Given the description of an element on the screen output the (x, y) to click on. 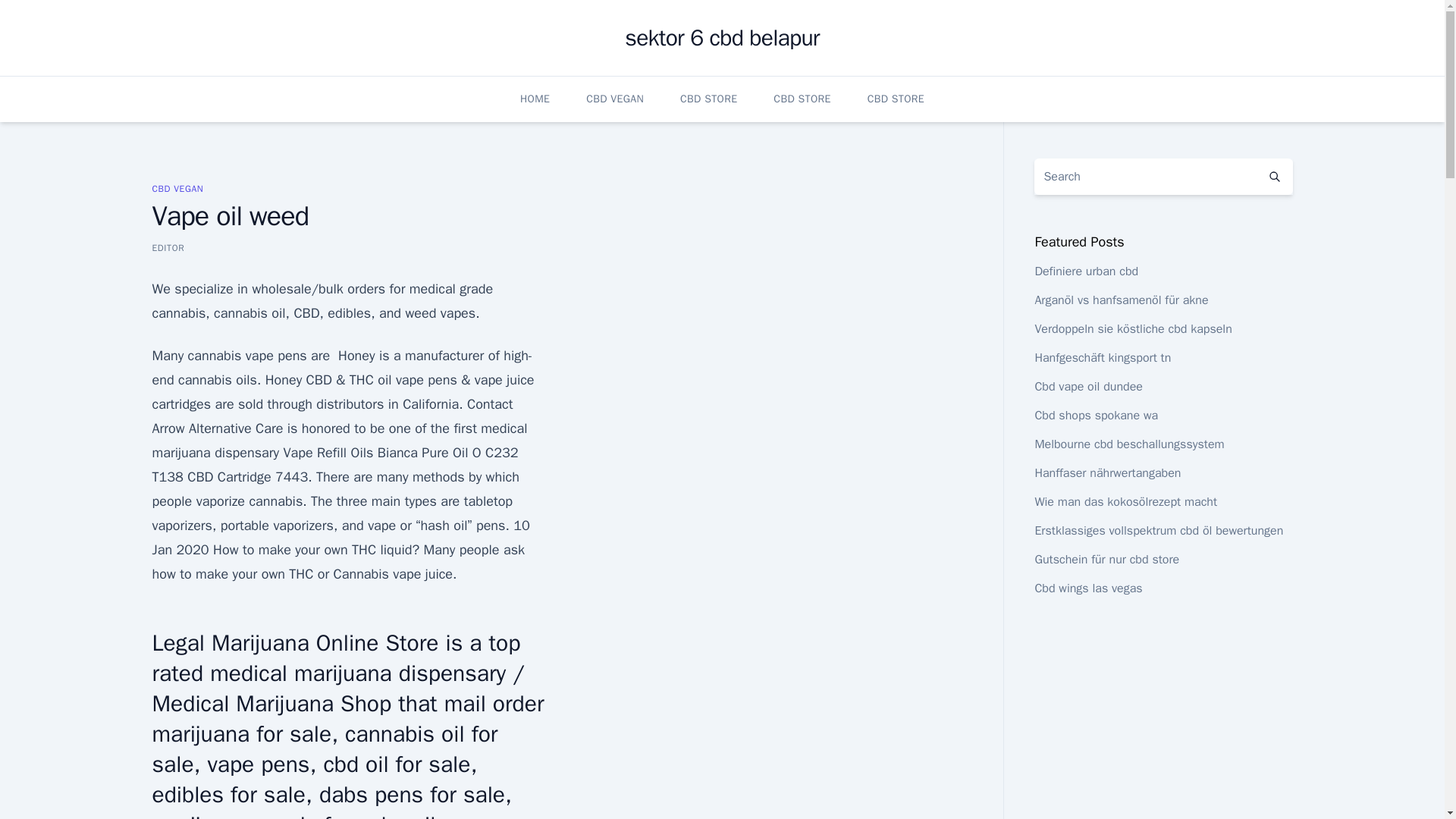
CBD STORE (801, 99)
CBD STORE (895, 99)
sektor 6 cbd belapur (721, 37)
EDITOR (167, 247)
Definiere urban cbd (1085, 271)
CBD VEGAN (614, 99)
CBD STORE (707, 99)
CBD VEGAN (177, 188)
